Given the description of an element on the screen output the (x, y) to click on. 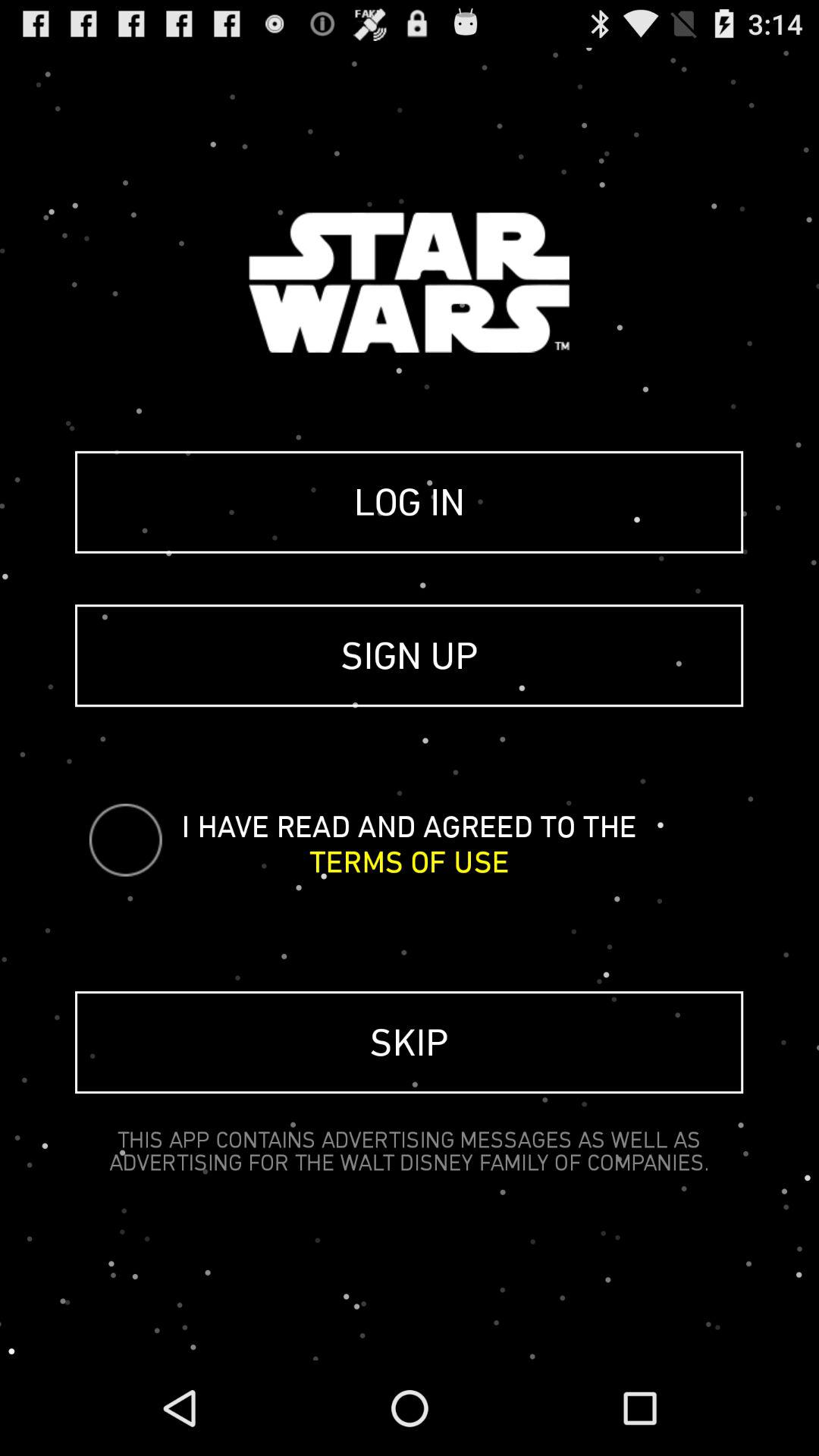
tap the terms of use (409, 861)
